Given the description of an element on the screen output the (x, y) to click on. 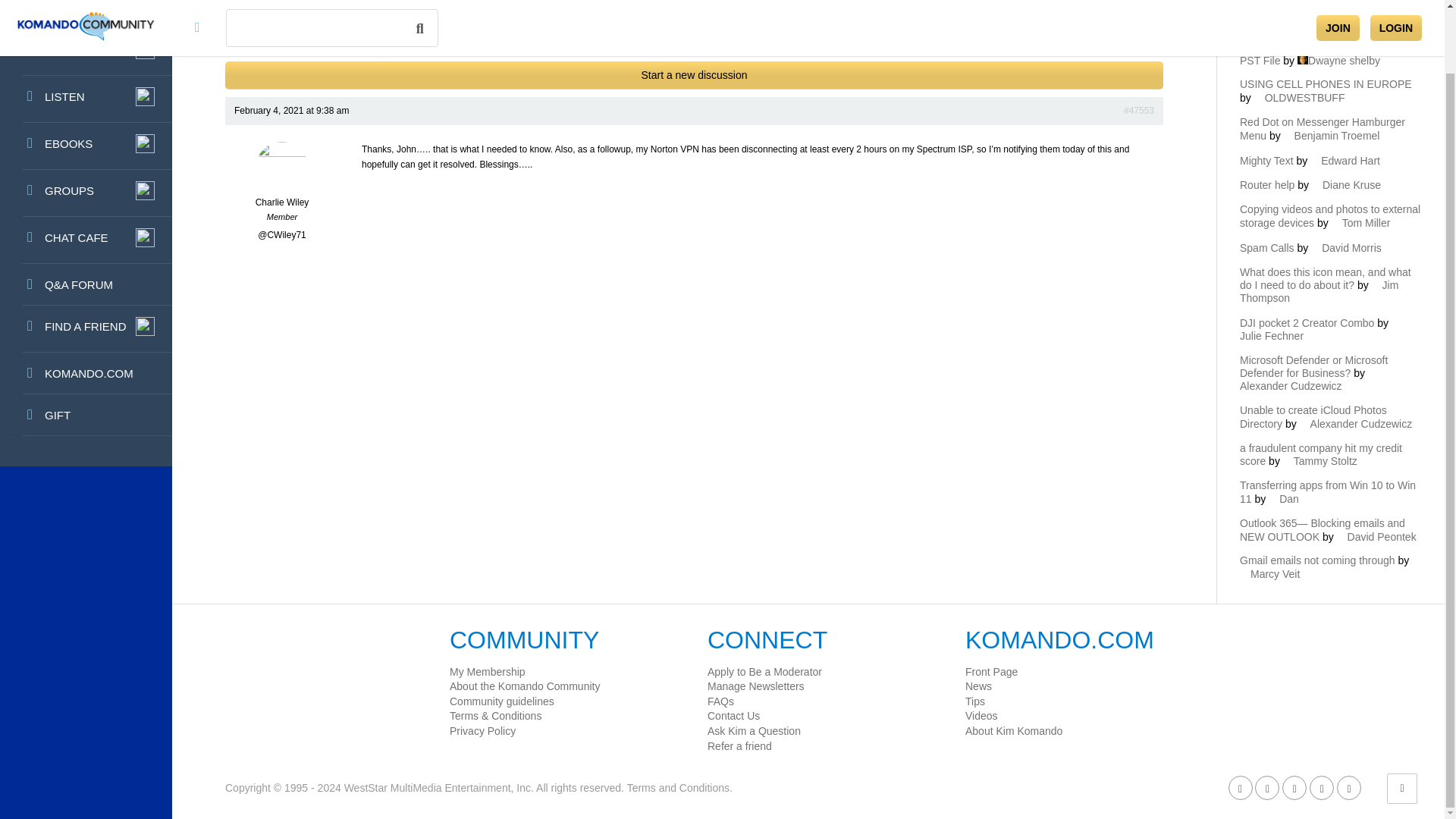
FIND A FRIEND (85, 328)
View Dan's profile (1283, 499)
View Diane Kruse's profile (1345, 184)
View OLDWESTBUFF's profile (1299, 97)
View Alexander Cudzewicz's profile (1309, 379)
View Dwayne shelby's profile (1338, 60)
HOME (85, 14)
EBOOKS (85, 145)
KOMANDO.COM (85, 372)
WATCH (85, 52)
View Julie Fechner's profile (1321, 329)
View Tom Miller's profile (1361, 223)
Search (1143, 13)
View Jim Thompson's profile (1318, 291)
View Tammy Stoltz's profile (1319, 460)
